Given the description of an element on the screen output the (x, y) to click on. 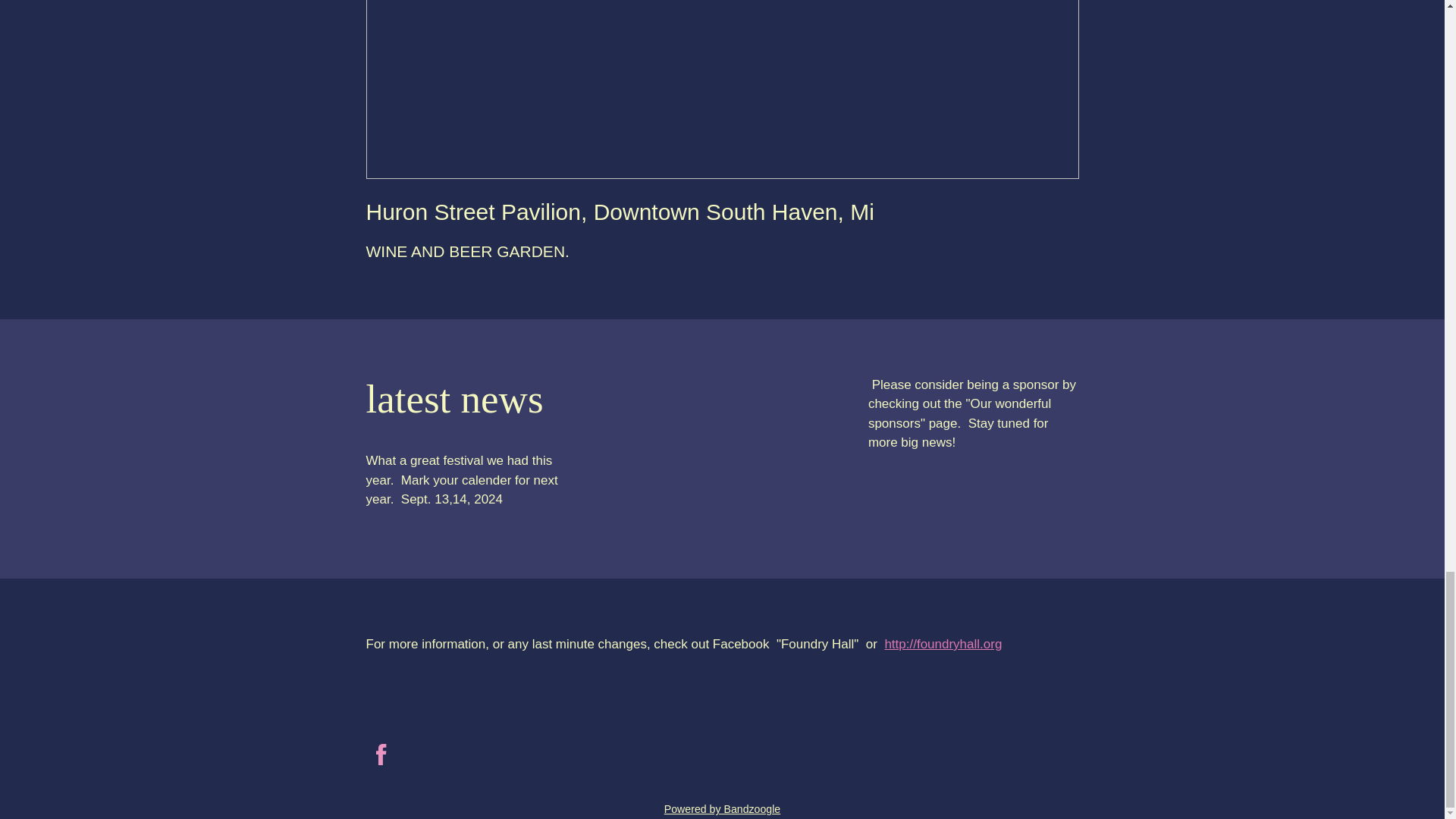
Powered by Bandzoogle (721, 808)
